Given the description of an element on the screen output the (x, y) to click on. 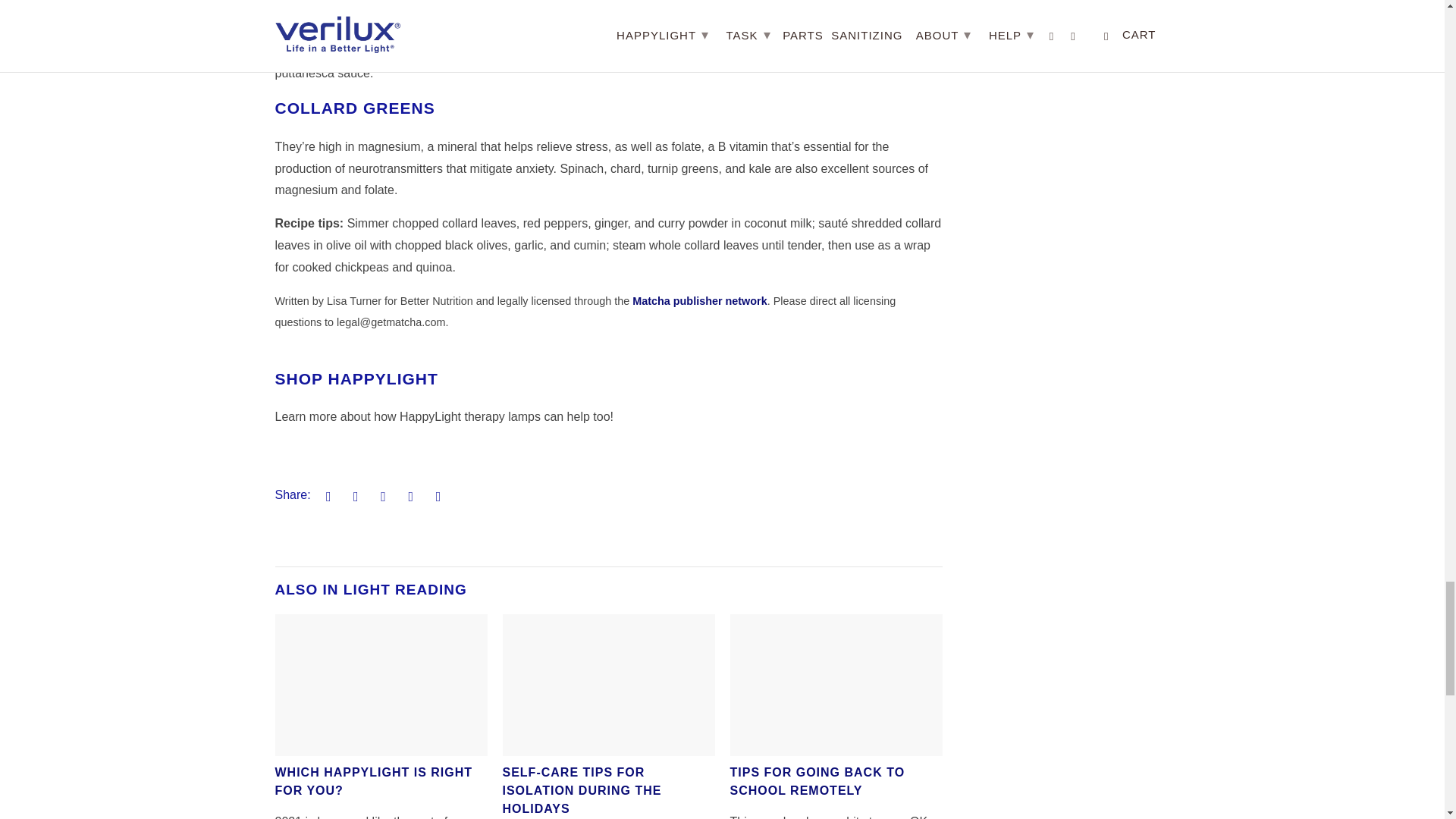
Share this on Twitter (325, 495)
Share this on Facebook (352, 495)
Share this on Pinterest (381, 495)
Self-Care Tips For Isolation During The Holidays (581, 789)
Email this to a friend (435, 495)
Self-Care Tips For Isolation During The Holidays (608, 684)
Which HappyLight is right for you? (380, 684)
Which HappyLight is right for you? (373, 780)
